Given the description of an element on the screen output the (x, y) to click on. 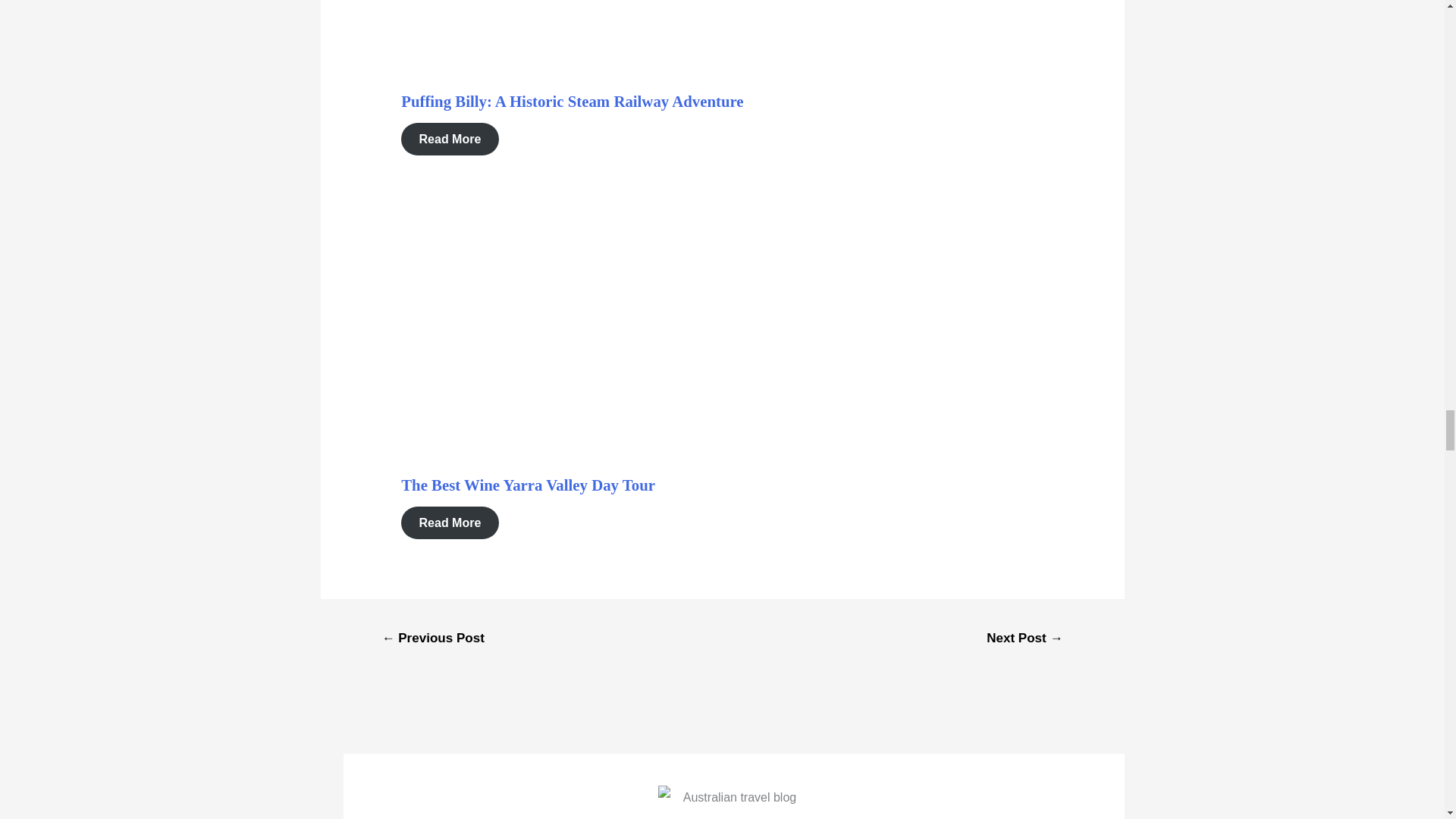
Queenscliff to Sorrento Ferry: A Unique Day Out (432, 639)
The Best Great Ocean Road Itinerary 11 (643, 309)
Best day Trips from London: Behind the Scenes Bletchley Park (1025, 639)
